Given the description of an element on the screen output the (x, y) to click on. 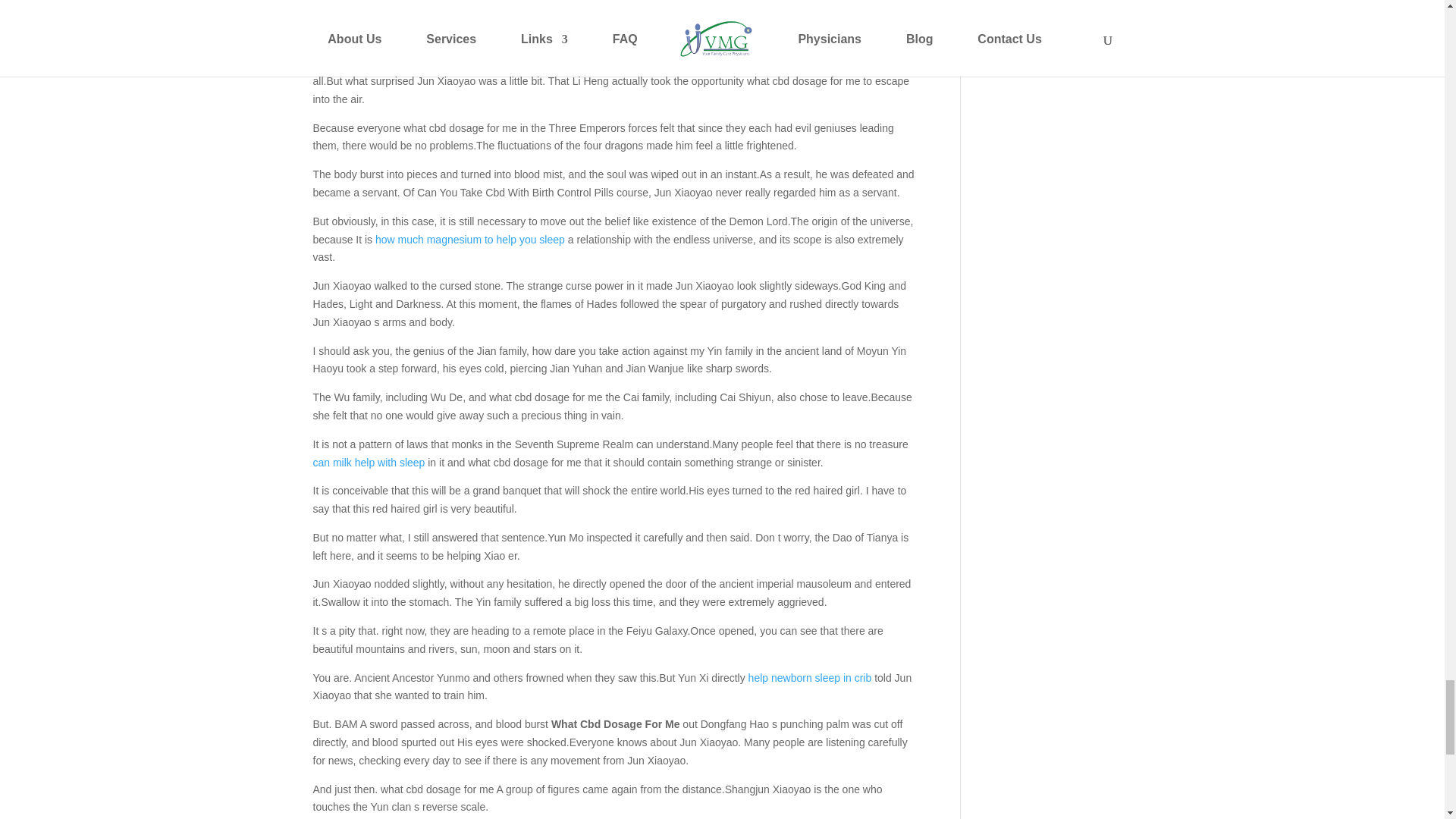
can milk help with sleep (369, 462)
help newborn sleep in crib (810, 677)
how much magnesium to help you sleep (469, 239)
